Given the description of an element on the screen output the (x, y) to click on. 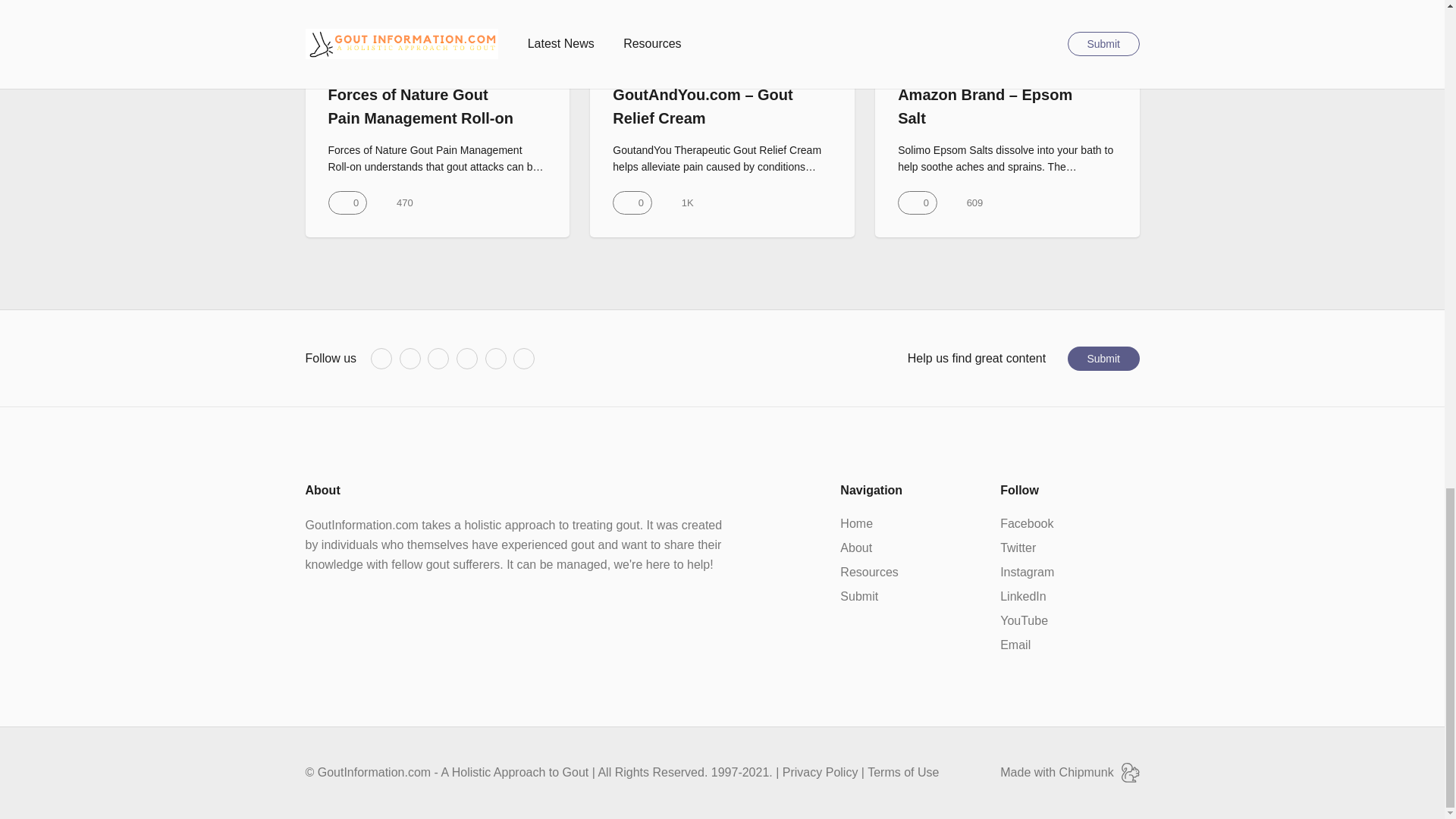
Twitter (409, 358)
Email (523, 358)
Submit (858, 596)
Home (856, 523)
Resources (869, 572)
Upvote (631, 202)
Instagram (438, 358)
LinkedIn (467, 358)
Submit (1103, 358)
LinkedIn (1023, 596)
